Given the description of an element on the screen output the (x, y) to click on. 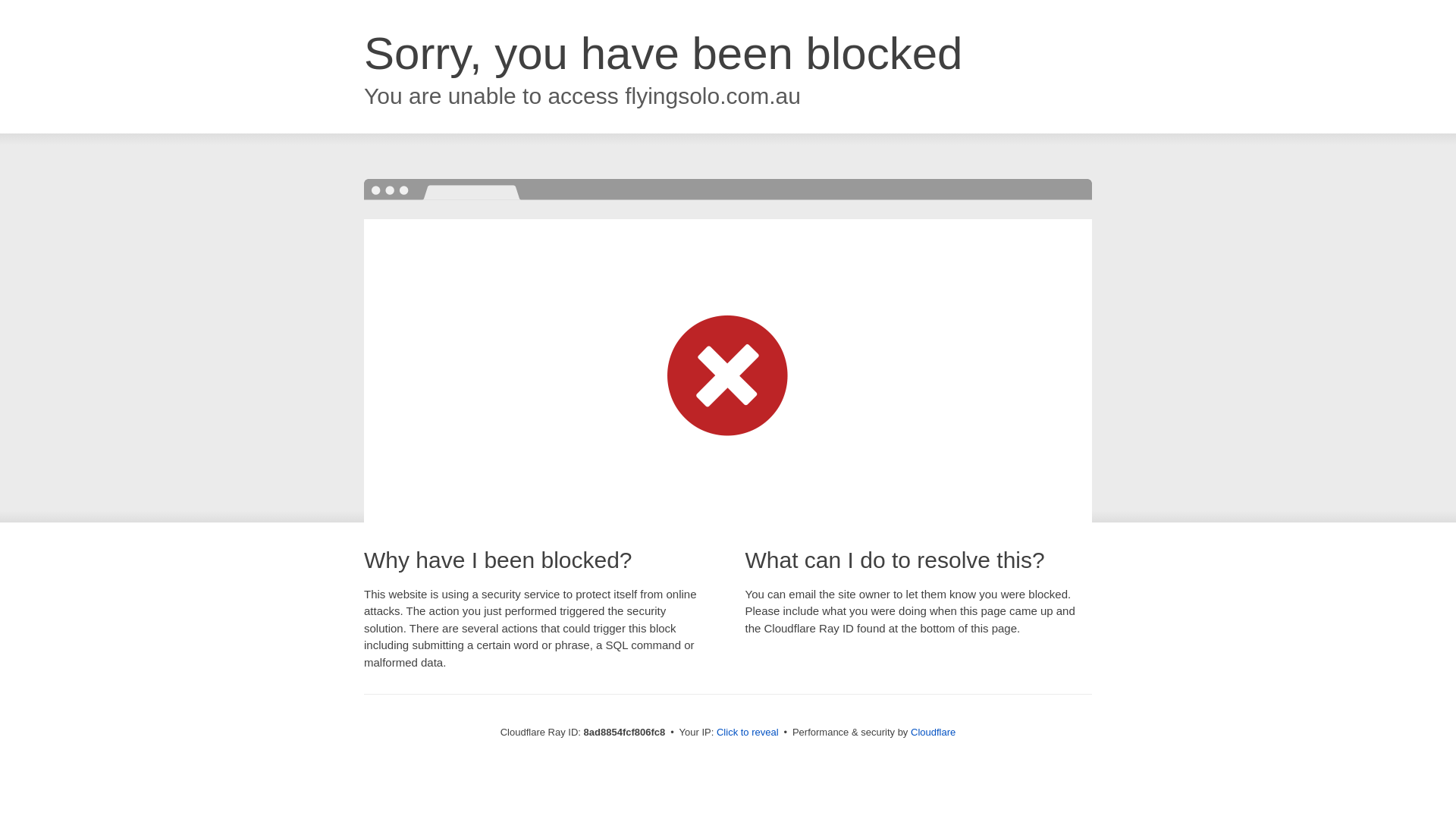
Cloudflare (933, 731)
Click to reveal (747, 732)
